Given the description of an element on the screen output the (x, y) to click on. 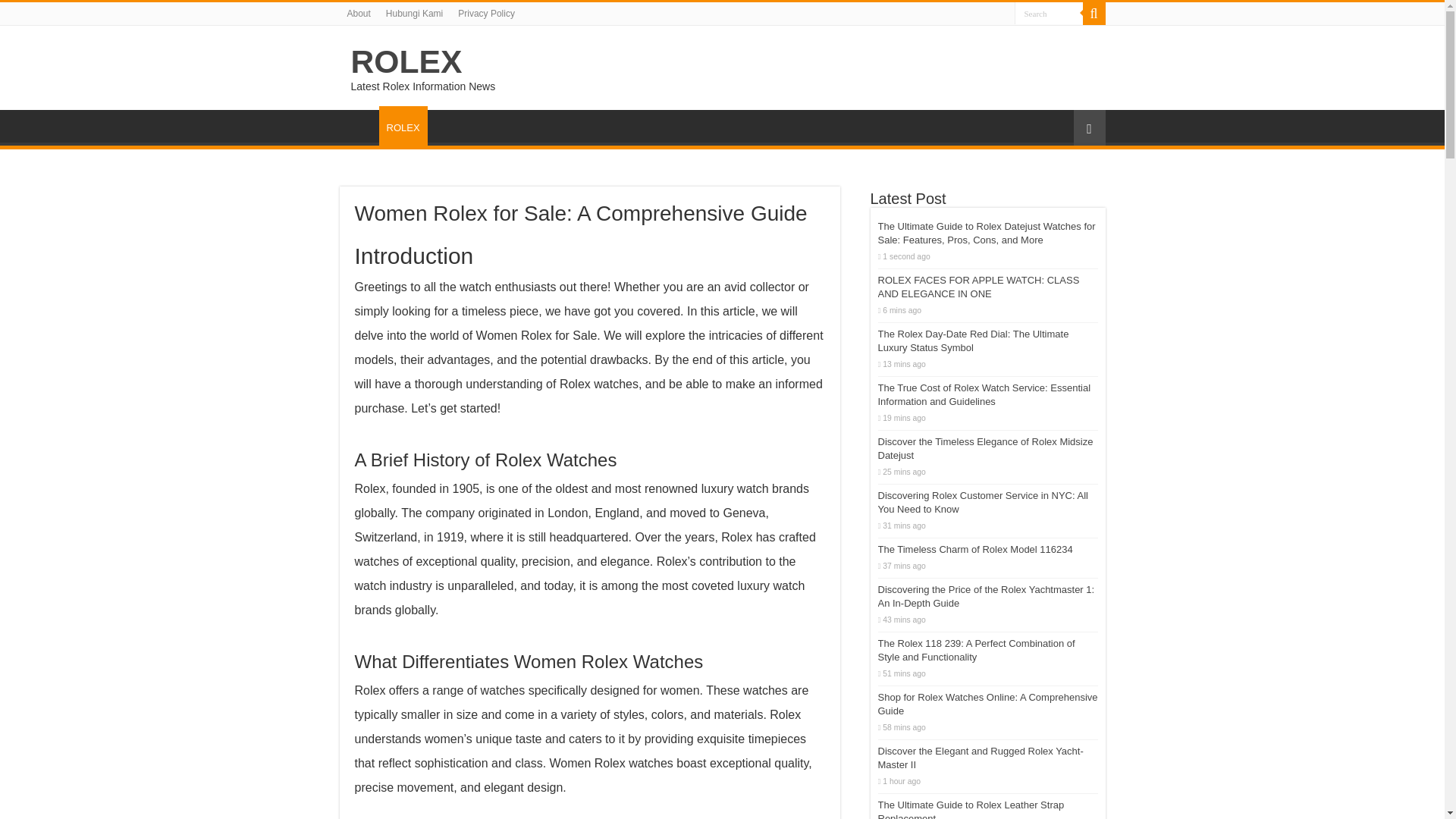
Discover the Timeless Elegance of Rolex Midsize Datejust (985, 448)
Privacy Policy (485, 13)
Hubungi Kami (413, 13)
Search (1094, 13)
ROLEX (405, 61)
Search (1048, 13)
HOME (358, 125)
About (358, 13)
